Given the description of an element on the screen output the (x, y) to click on. 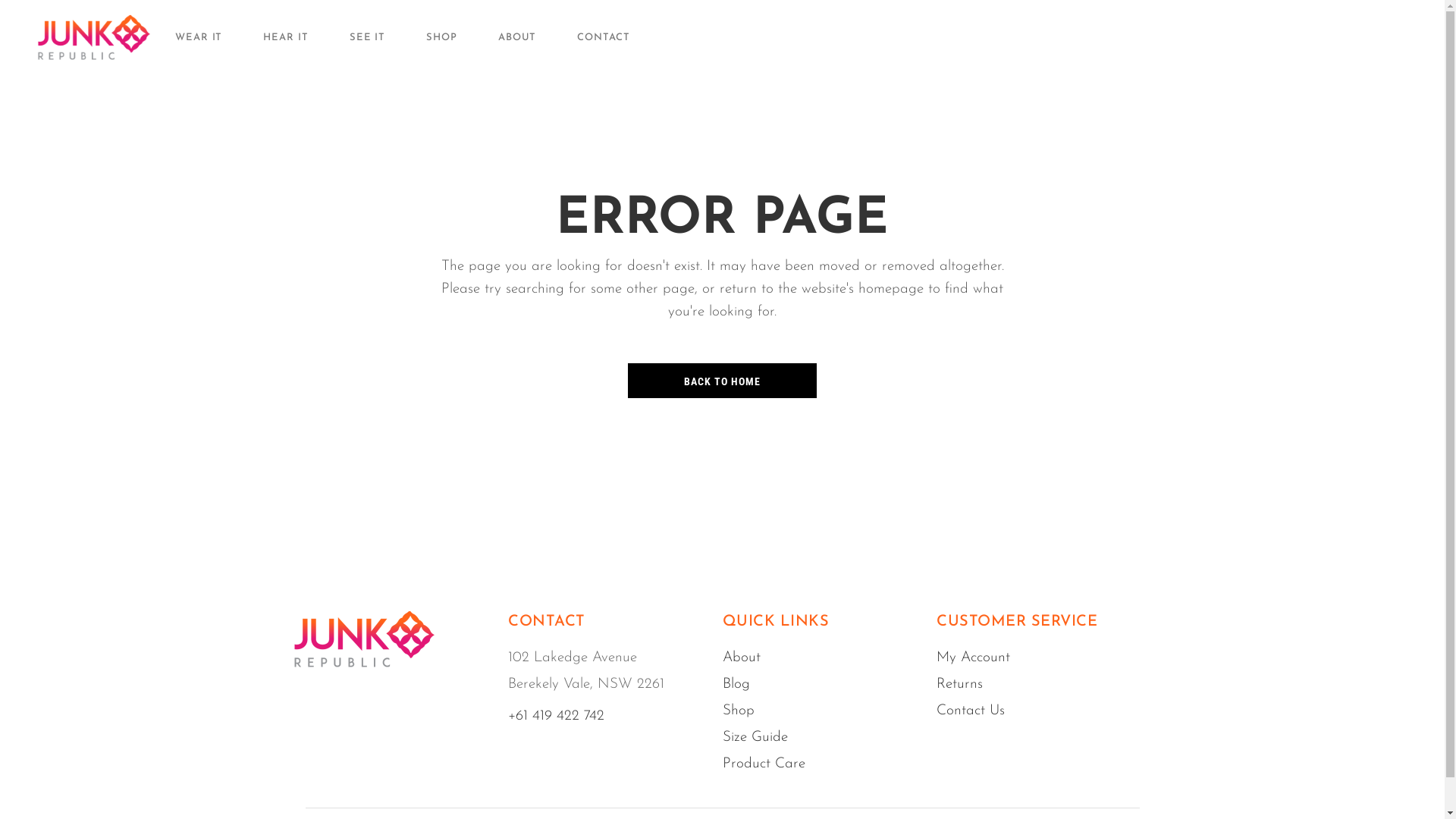
SEE IT Element type: text (367, 37)
Blog Element type: text (735, 684)
ABOUT Element type: text (517, 37)
Returns Element type: text (959, 684)
HEAR IT Element type: text (285, 37)
BACK TO HOME Element type: text (722, 380)
My Account Element type: text (973, 657)
Shop Element type: text (737, 710)
Product Care Element type: text (762, 763)
Contact Us Element type: text (970, 710)
Size Guide Element type: text (754, 737)
+61 419 422 742 Element type: text (556, 716)
CONTACT Element type: text (603, 37)
About Element type: text (740, 657)
SHOP Element type: text (441, 37)
WEAR IT Element type: text (198, 37)
